Given the description of an element on the screen output the (x, y) to click on. 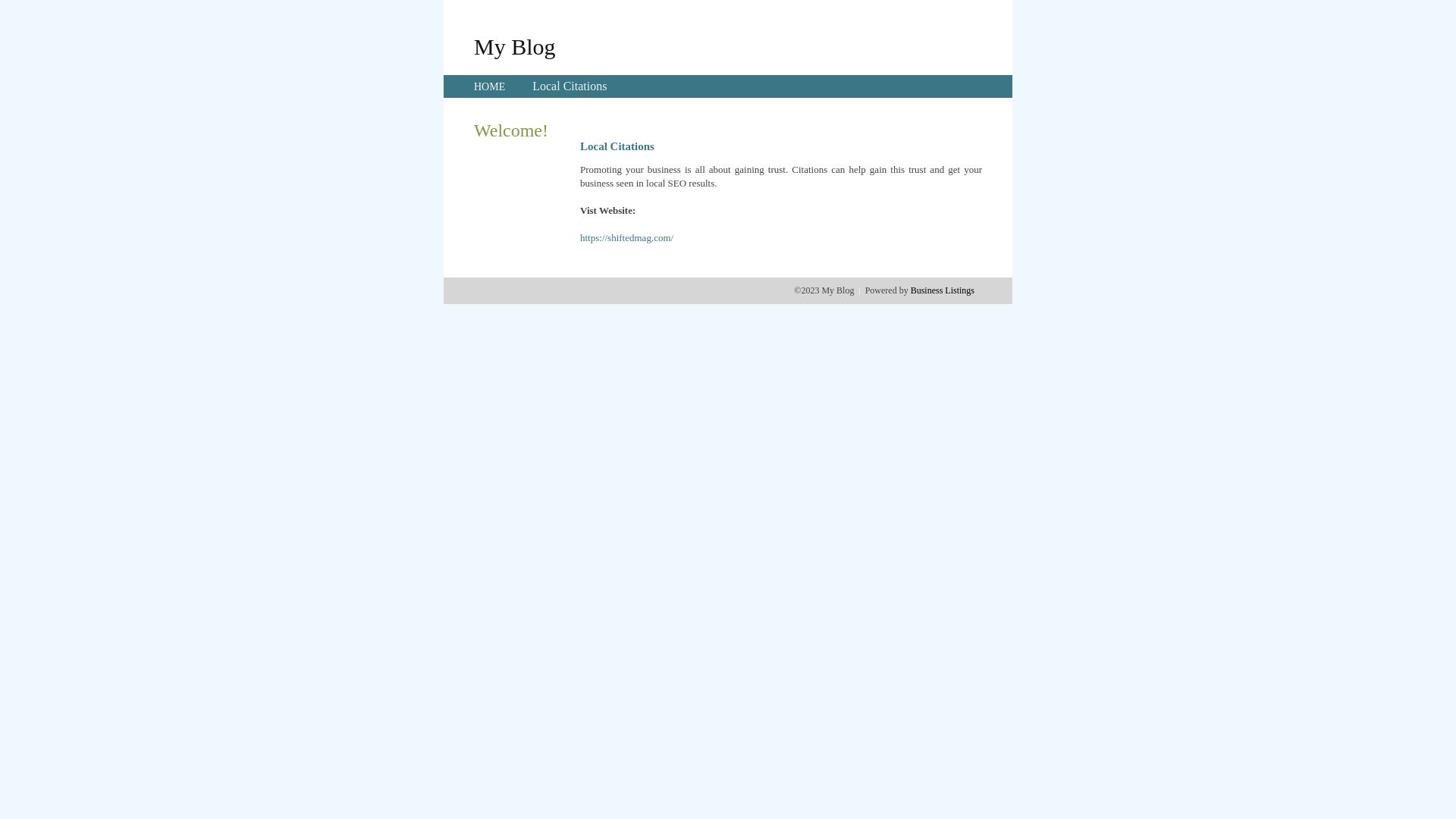
Local Citations Element type: text (569, 85)
My Blog Element type: text (514, 46)
HOME Element type: text (489, 86)
https://shiftedmag.com/ Element type: text (626, 237)
Business Listings Element type: text (942, 290)
